Given the description of an element on the screen output the (x, y) to click on. 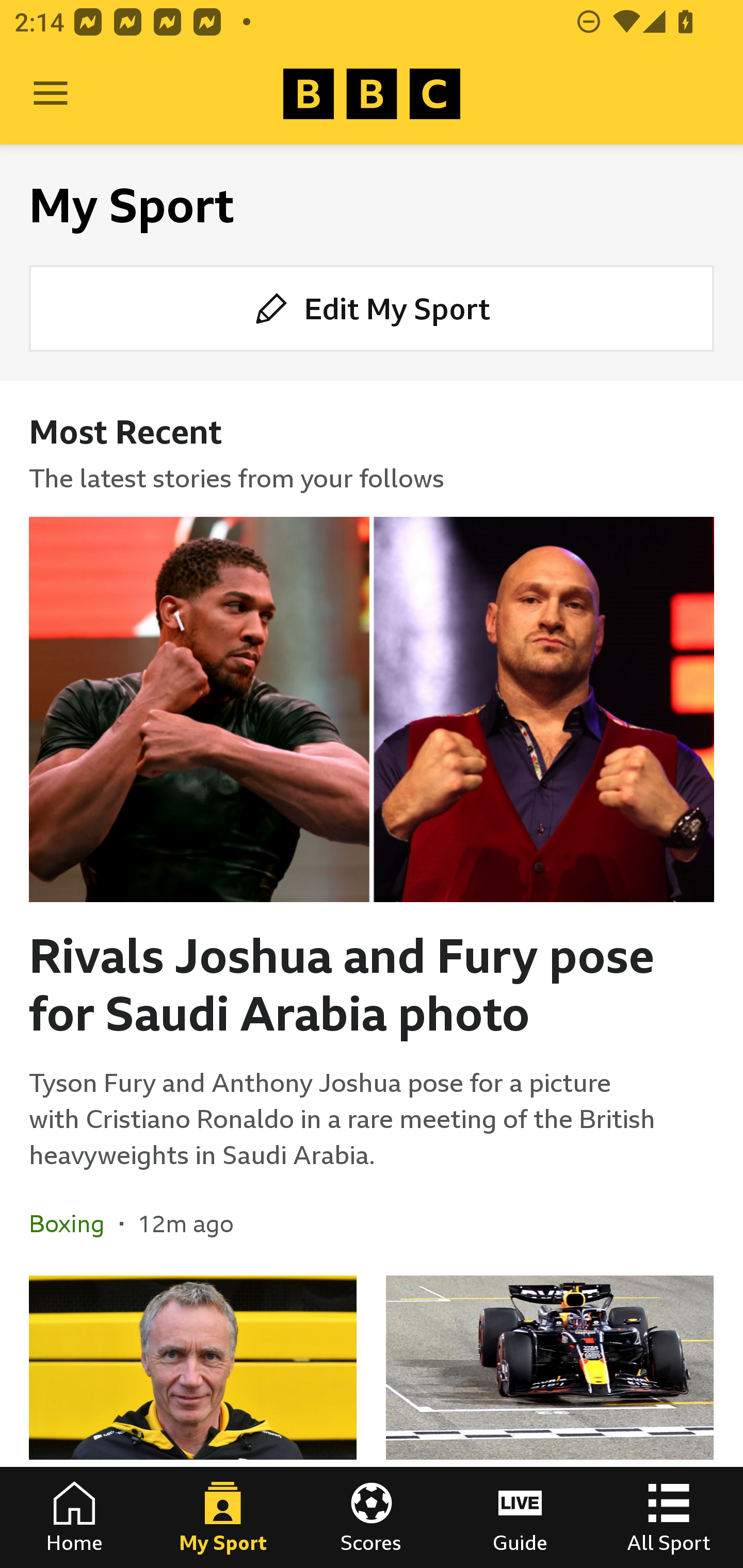
Open Menu (50, 93)
Edit My Sport (371, 307)
Engineer Bell leaves struggling Alpine (192, 1421)
Home (74, 1517)
Scores (371, 1517)
Guide (519, 1517)
All Sport (668, 1517)
